Given the description of an element on the screen output the (x, y) to click on. 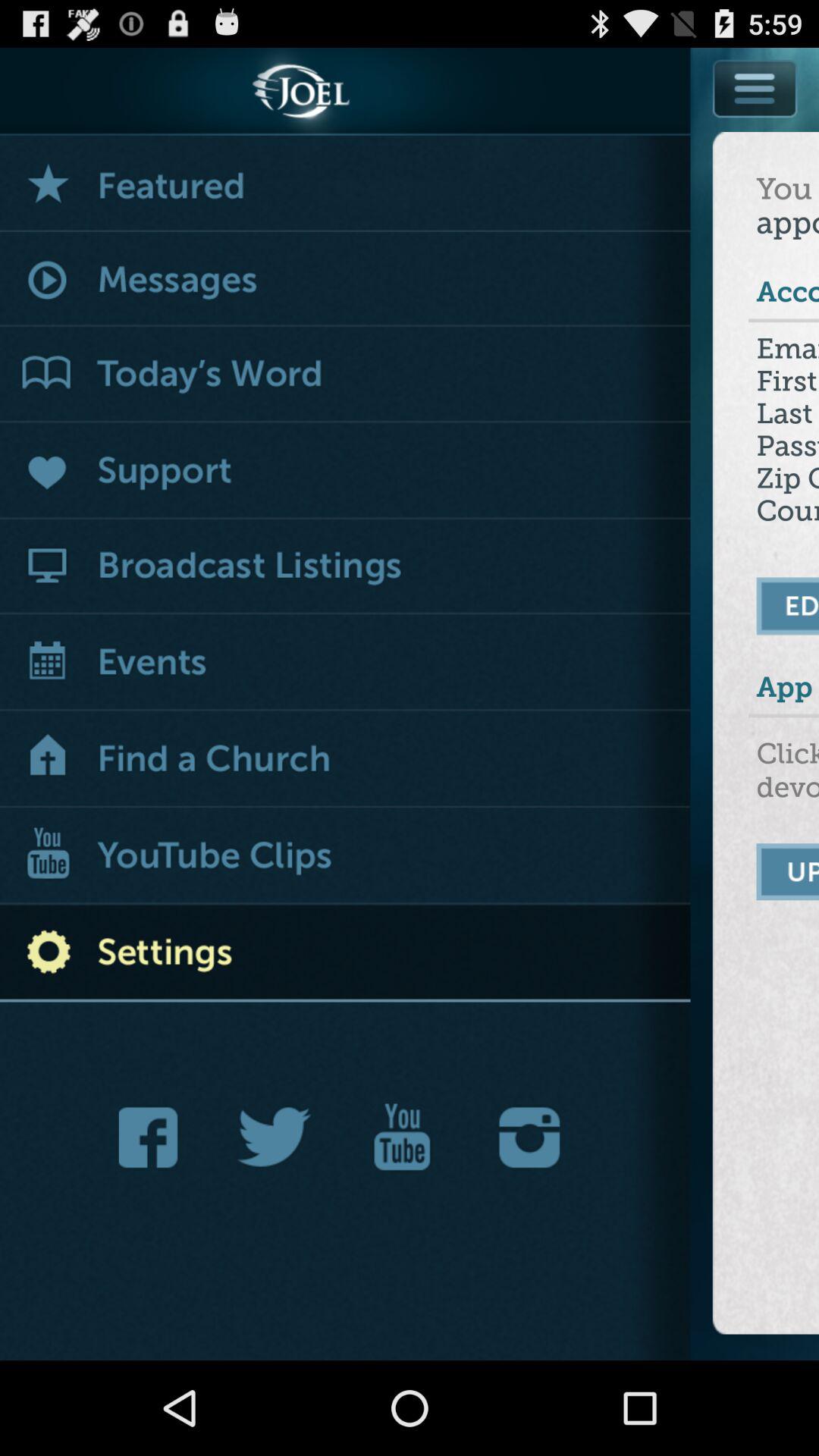
go to today 's word (345, 375)
